Given the description of an element on the screen output the (x, y) to click on. 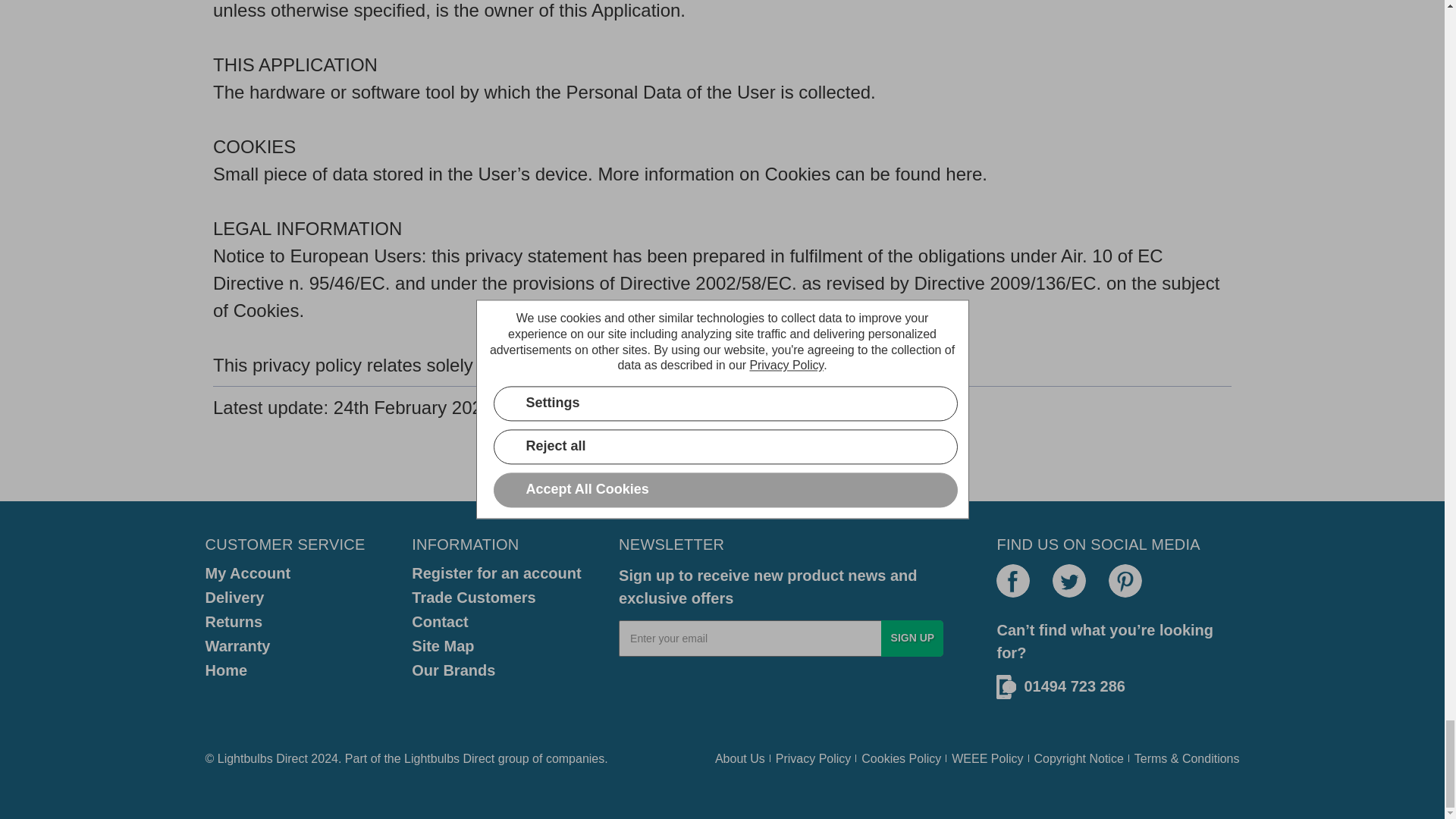
Sign up (911, 637)
Pinterest (1124, 580)
Facebook (1012, 580)
Twitter (1069, 580)
